Given the description of an element on the screen output the (x, y) to click on. 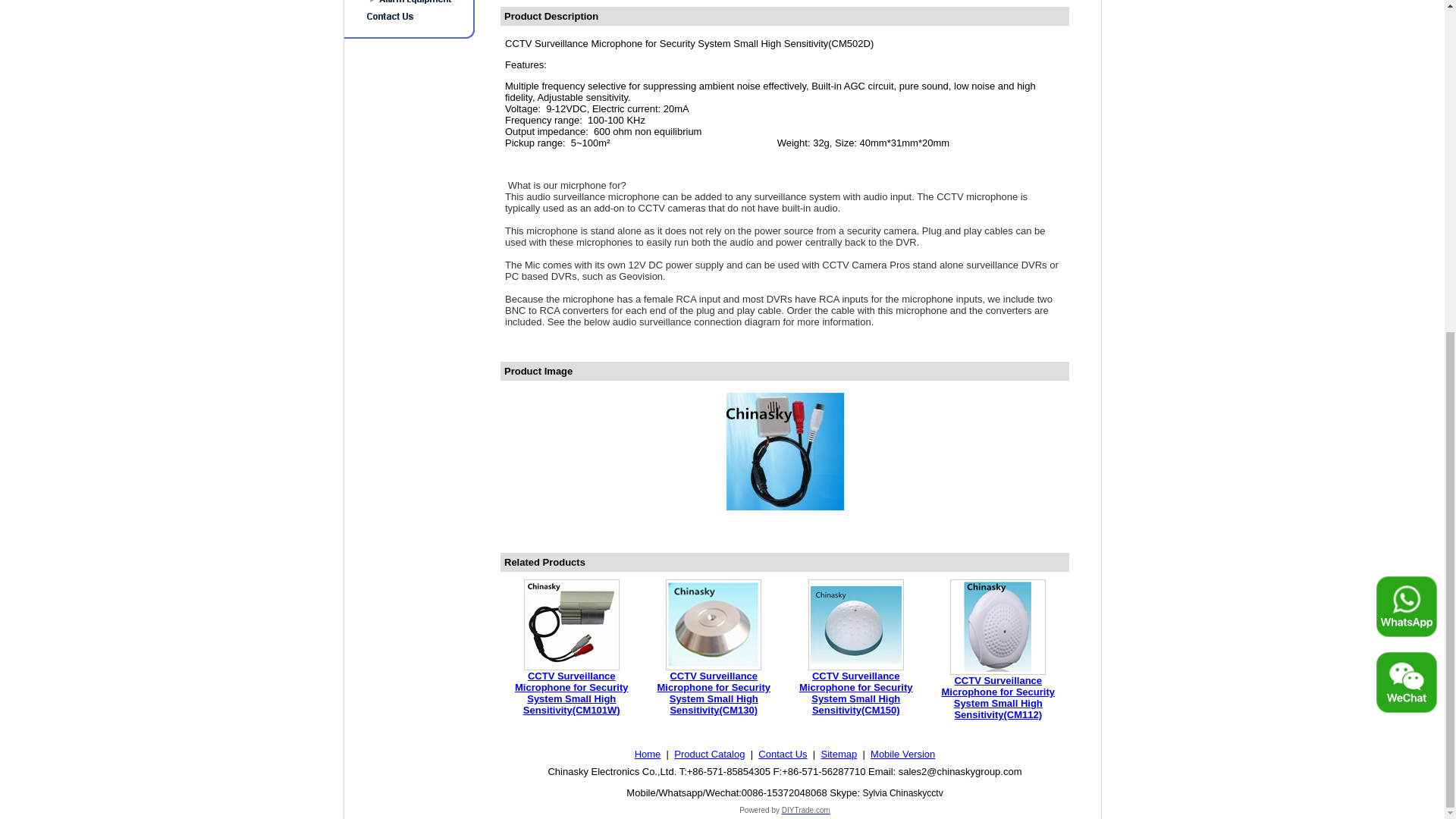
Wechat (1406, 129)
Whatsapp (1406, 54)
Mobile Version (902, 754)
